Given the description of an element on the screen output the (x, y) to click on. 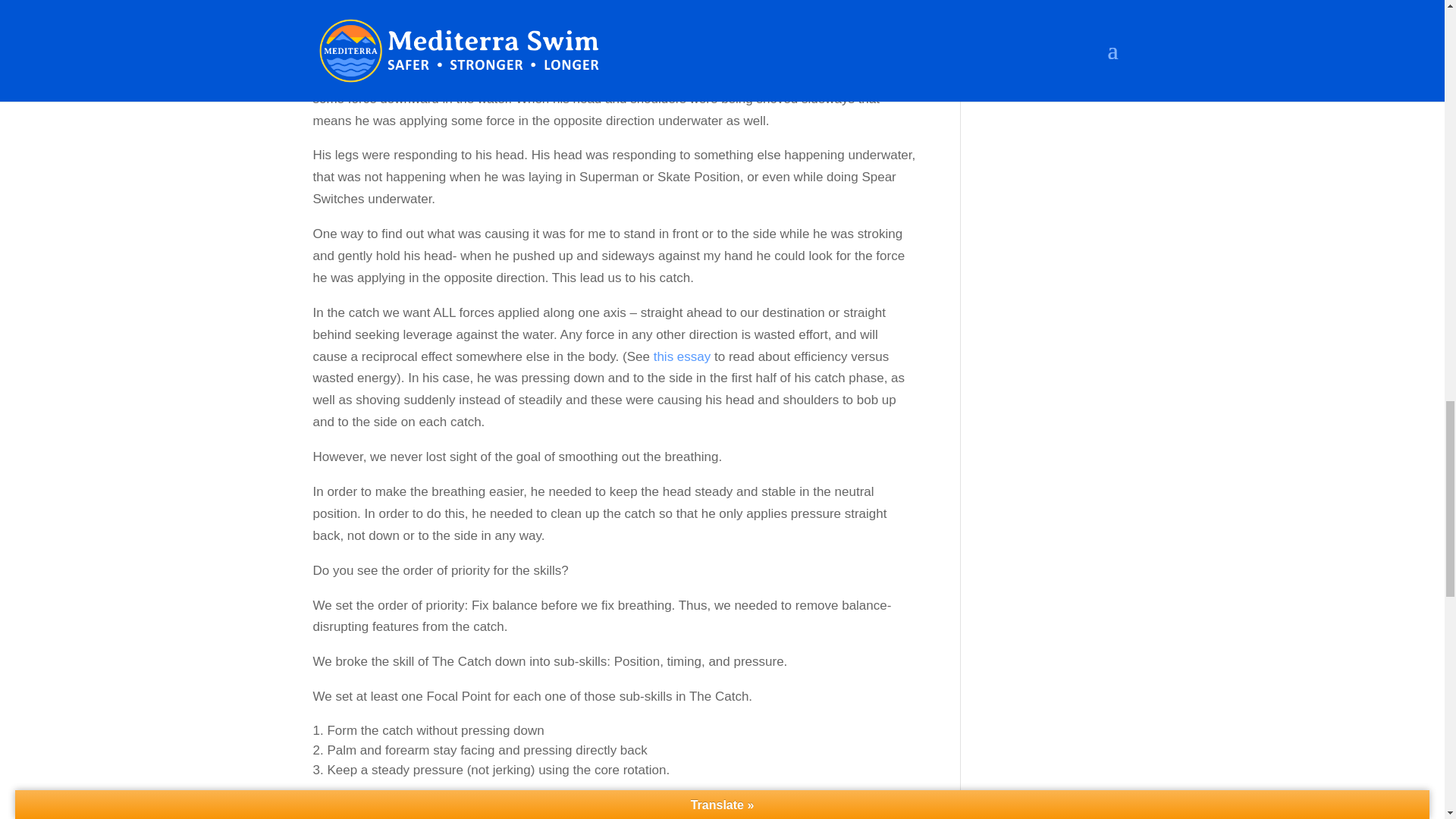
this essay (679, 356)
Over-Glide Problem? (679, 356)
